Given the description of an element on the screen output the (x, y) to click on. 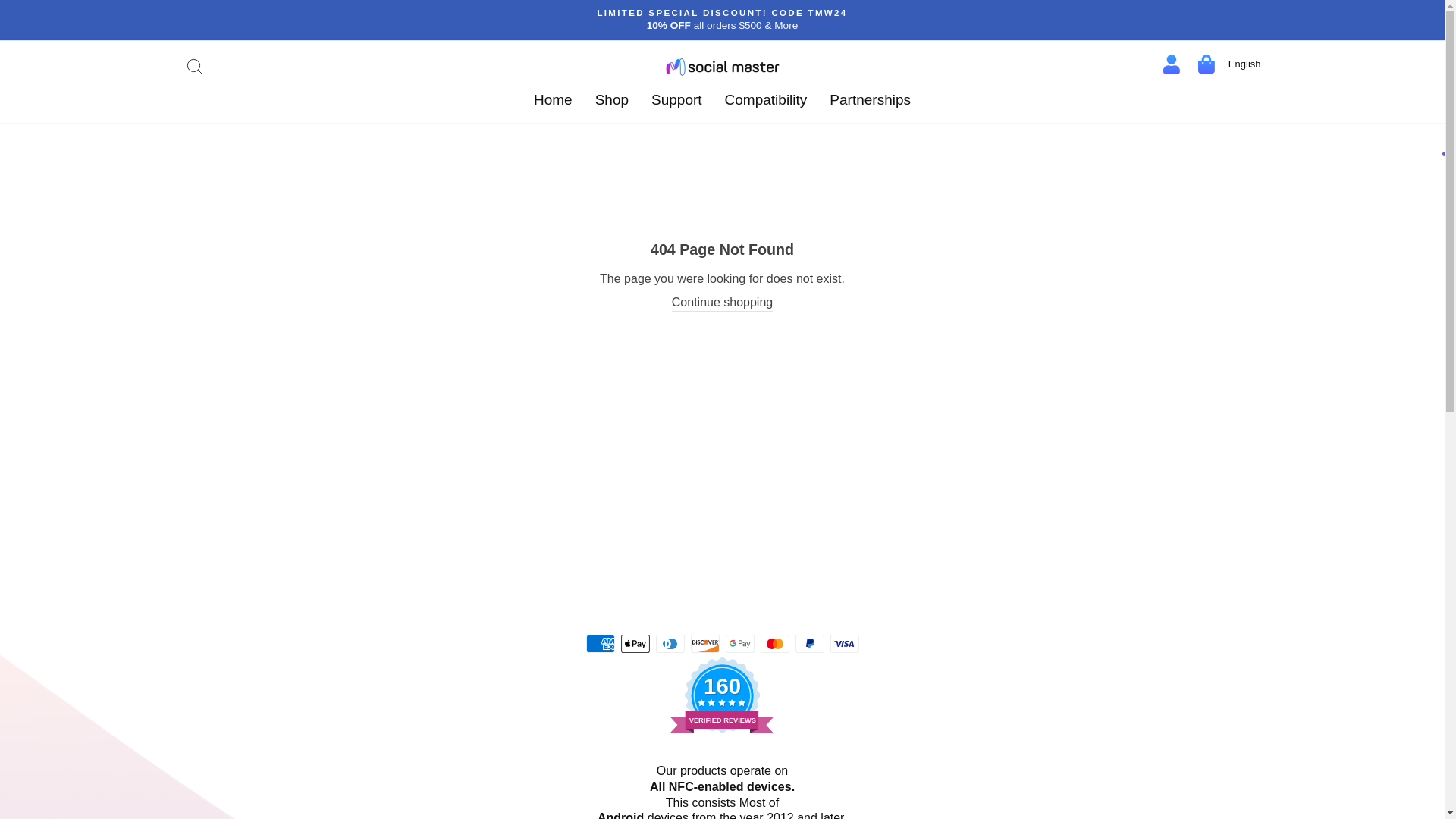
Home (552, 100)
Google Pay (739, 643)
Support (676, 100)
Shop (611, 100)
Apple Pay (634, 643)
Mastercard (774, 643)
Cart (1206, 66)
Compatibility (721, 695)
Diners Club (765, 100)
